Given the description of an element on the screen output the (x, y) to click on. 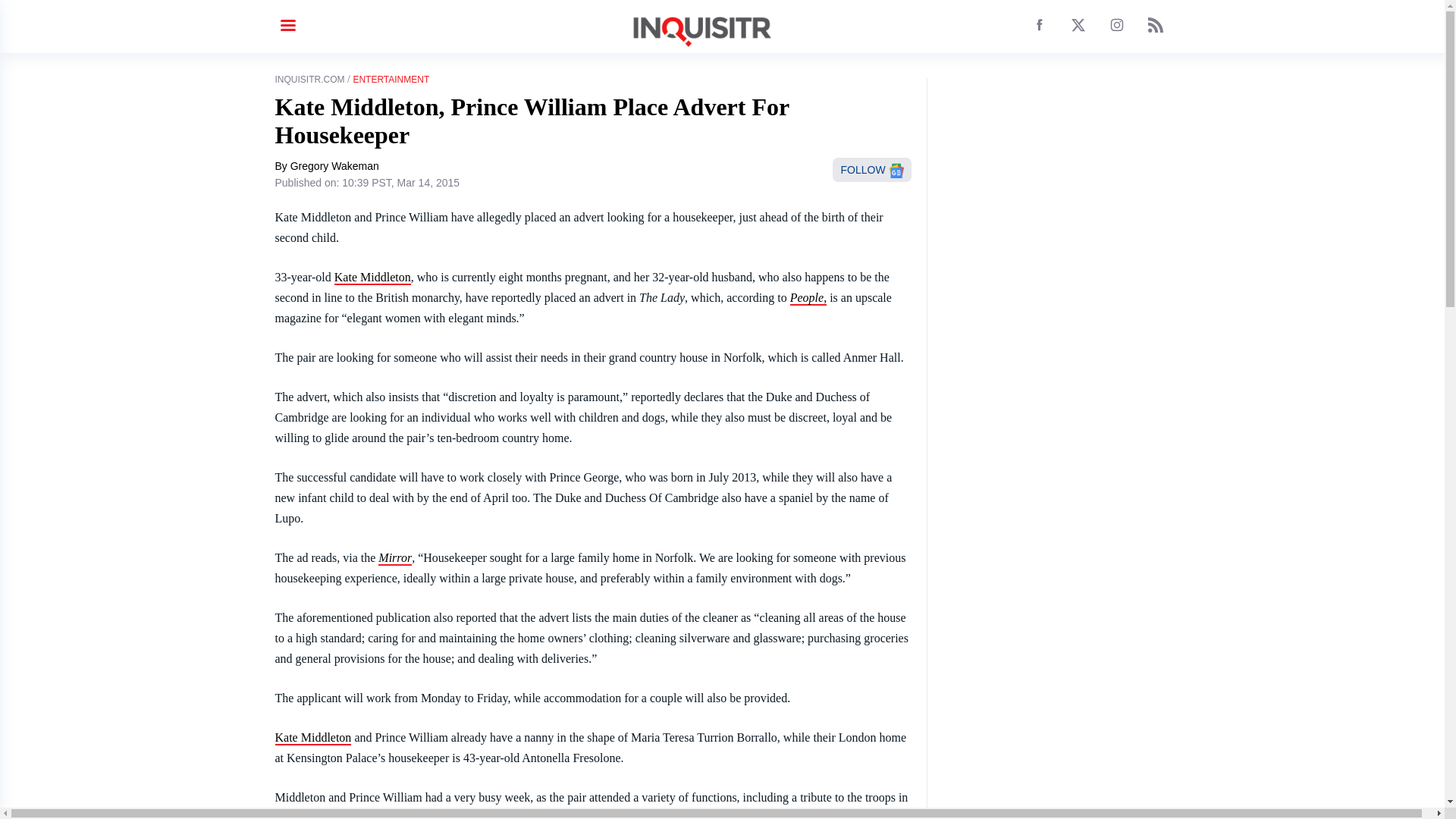
Mirror (395, 558)
Inquisitr (312, 738)
ENTERTAINMENT (390, 79)
Inquisitr (372, 278)
INQUISITR.COM (309, 79)
